Given the description of an element on the screen output the (x, y) to click on. 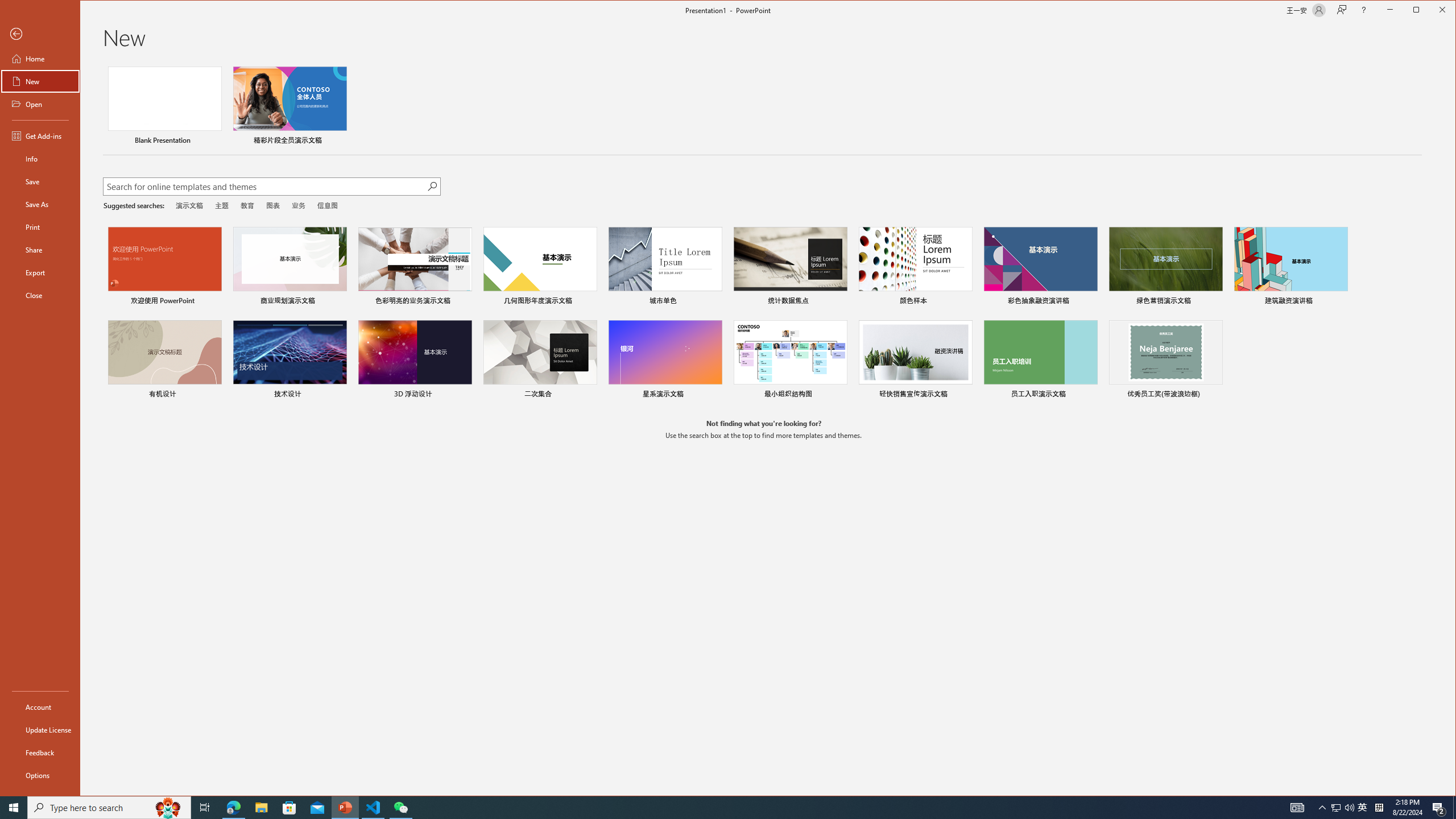
Account (40, 706)
Class: NetUIScrollBar (1450, 428)
Blank Presentation (164, 107)
Feedback (40, 752)
